Given the description of an element on the screen output the (x, y) to click on. 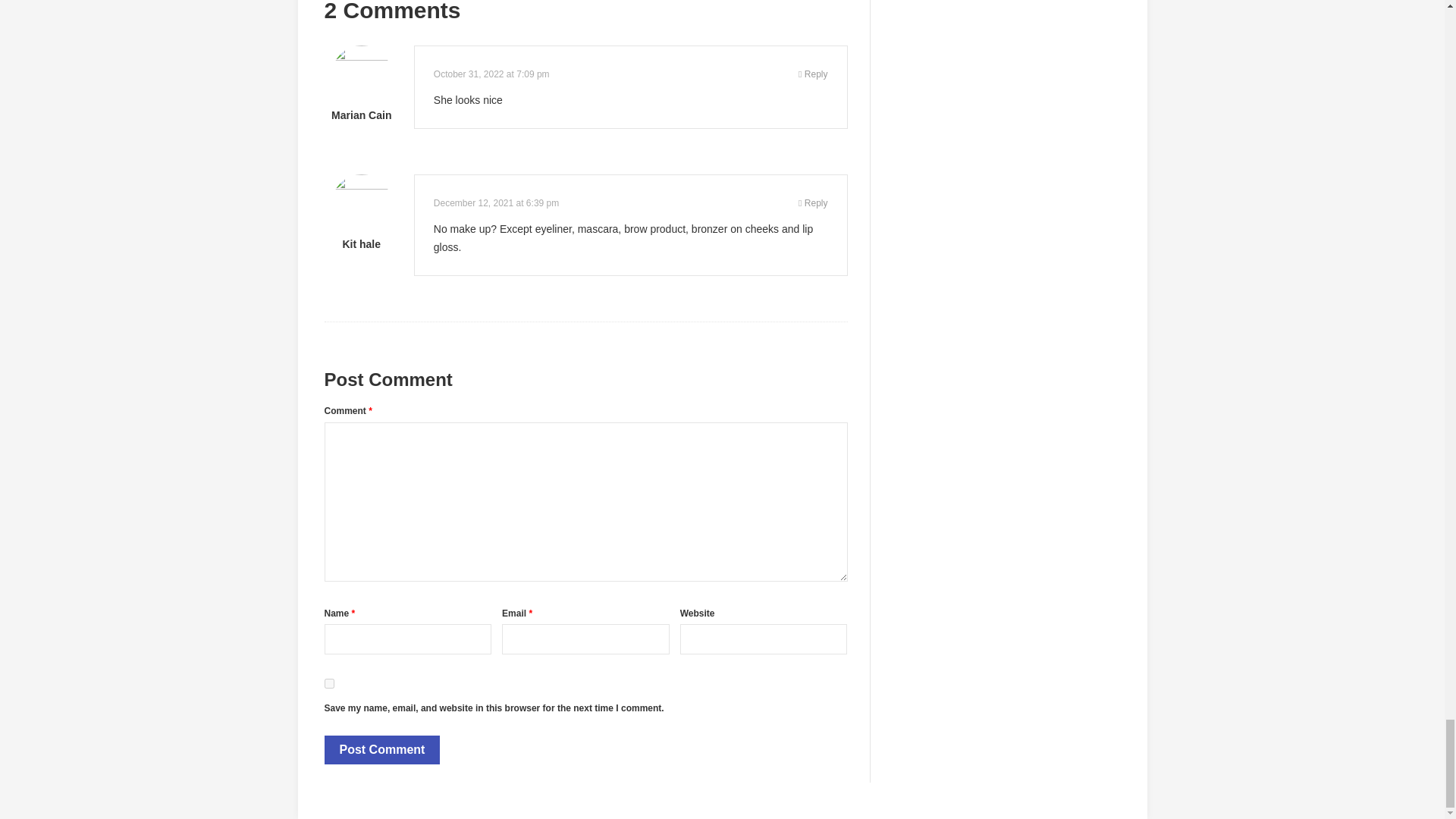
Post Comment (382, 749)
Sunday, December 12, 2021, 6:39 pm (496, 203)
Monday, October 31, 2022, 7:09 pm (491, 73)
yes (329, 683)
